Given the description of an element on the screen output the (x, y) to click on. 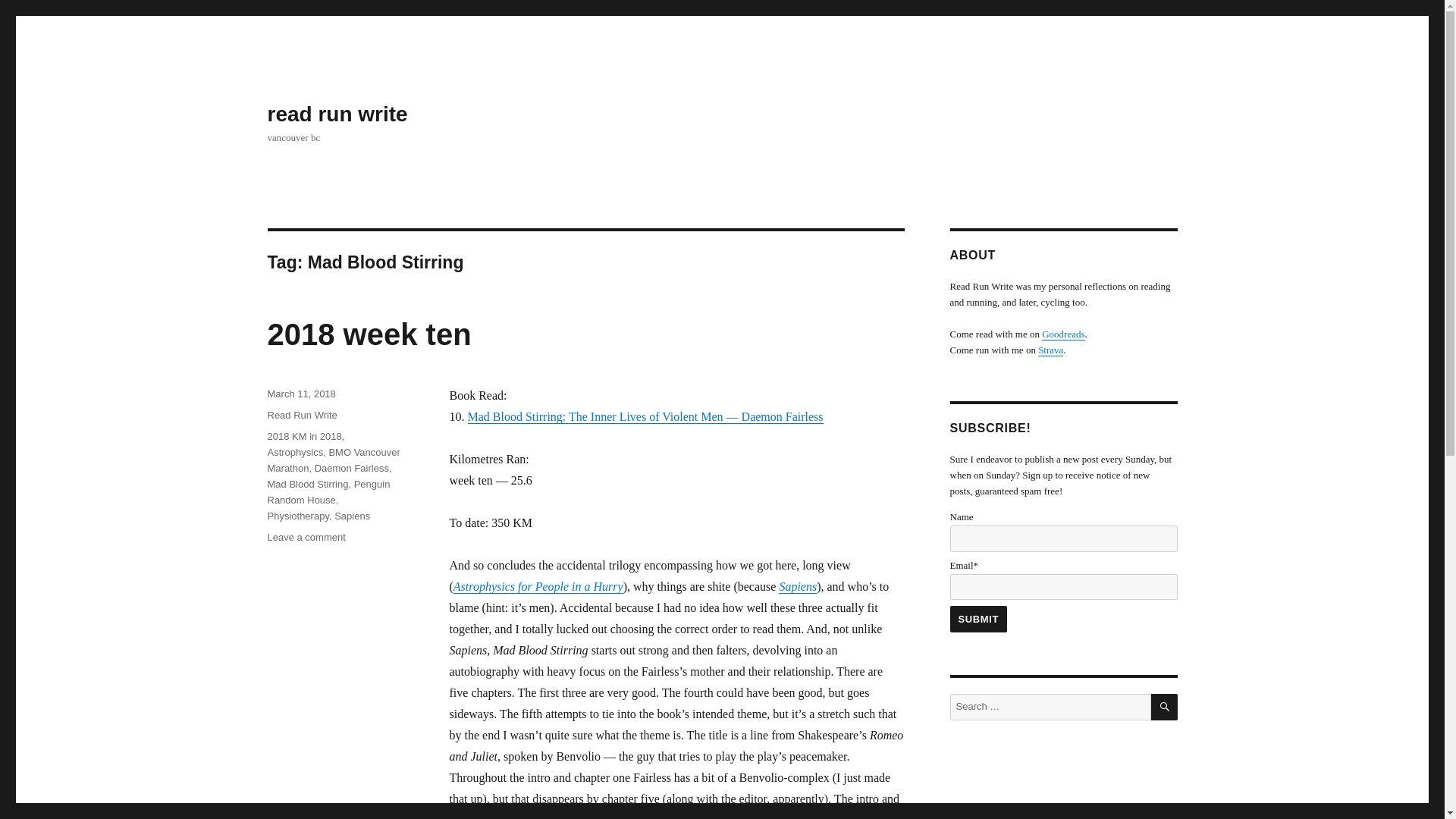
Mad Blood Stirring (306, 483)
SEARCH (1164, 706)
Daemon Fairless (351, 468)
Astrophysics (294, 451)
Strava (1050, 349)
March 11, 2018 (300, 393)
2018 KM in 2018 (303, 436)
BMO Vancouver Marathon (332, 460)
Goodreads (305, 536)
Sapiens (1063, 333)
Penguin Random House (351, 515)
2018 week ten (328, 492)
Physiotherapy (368, 334)
Submit (297, 515)
